Given the description of an element on the screen output the (x, y) to click on. 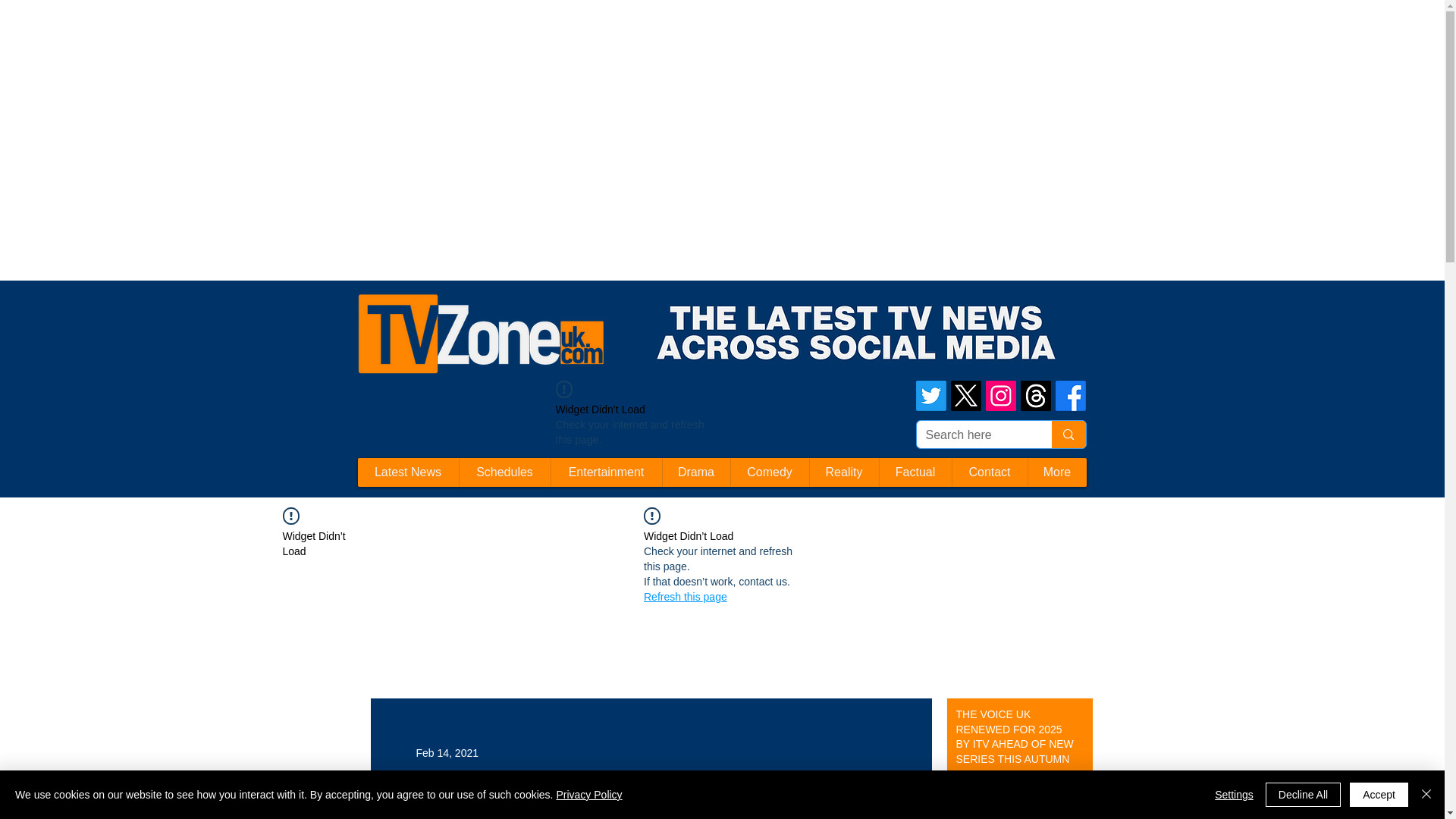
Refresh this page (684, 596)
Drama (695, 471)
Comedy (768, 471)
Feb 14, 2021 (446, 752)
Latest News (408, 471)
1 min (965, 785)
Factual (913, 471)
Advertisement (275, 33)
Entertainment (606, 471)
Schedules (504, 471)
Contact (988, 471)
Reality (842, 471)
